Given the description of an element on the screen output the (x, y) to click on. 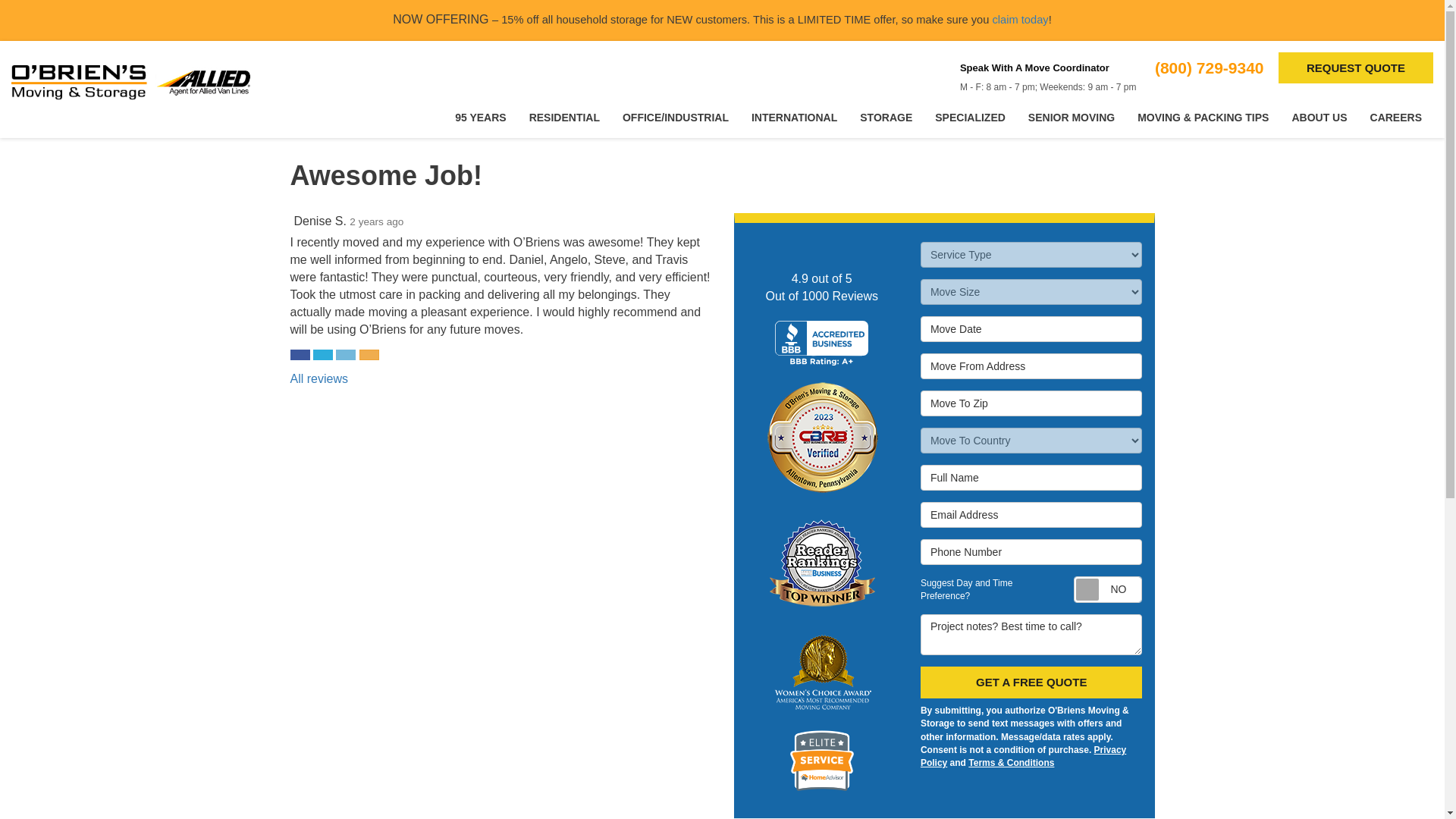
SPECIALIZED (969, 118)
REQUEST QUOTE (1355, 67)
SENIOR MOVING (1070, 118)
STORAGE (885, 118)
INTERNATIONAL (793, 118)
95 YEARS (480, 118)
RESIDENTIAL (564, 118)
claim today (1019, 19)
REQUEST QUOTE (1355, 67)
